Given the description of an element on the screen output the (x, y) to click on. 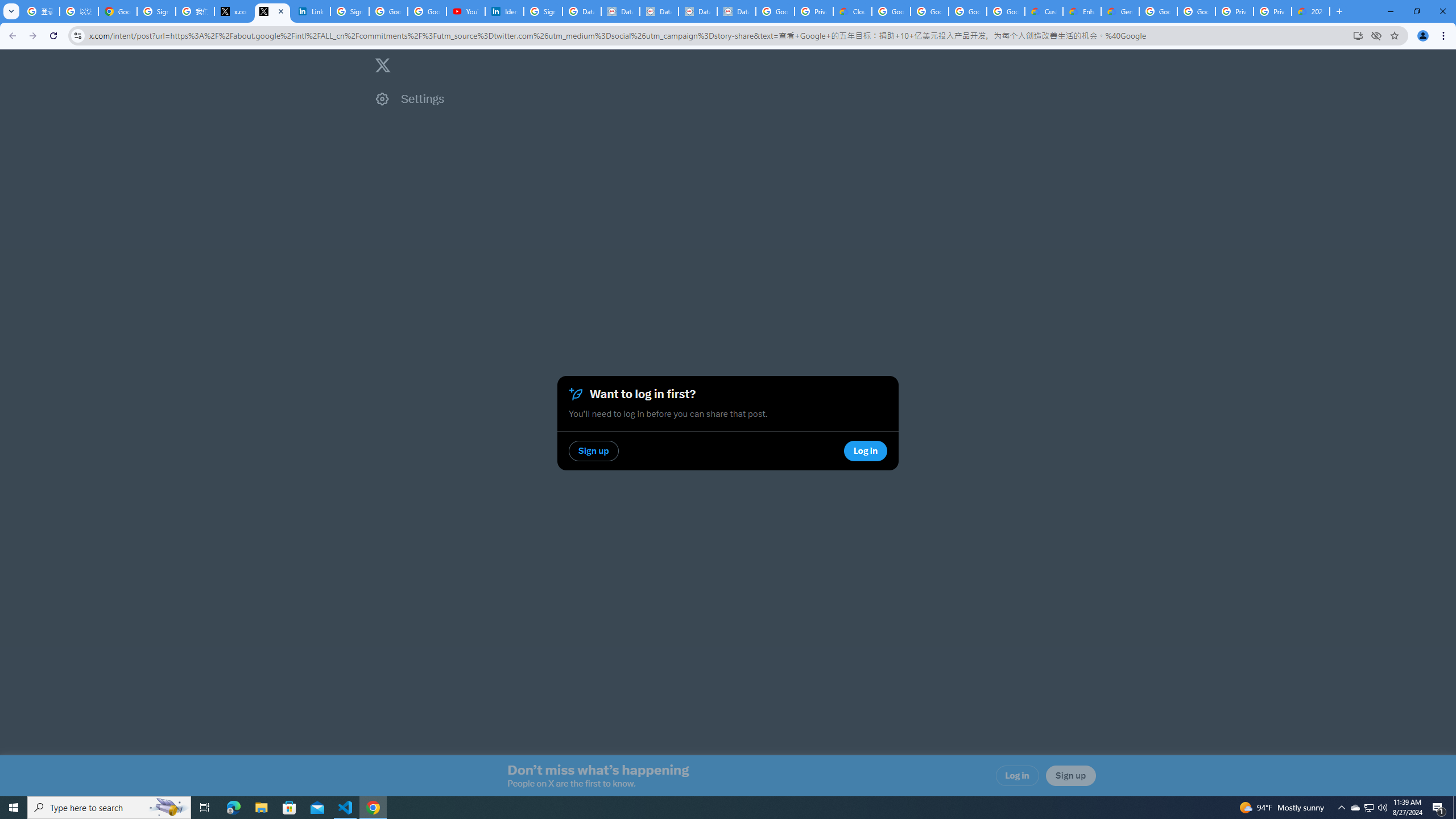
Google Cloud Platform (1196, 11)
Address and search bar (717, 35)
Identity verification via Persona | LinkedIn Help (504, 11)
Sign in - Google Accounts (542, 11)
Sign in - Google Accounts (349, 11)
Google Cloud Platform (1158, 11)
Third-party cookies blocked (1376, 35)
Data Privacy Framework (697, 11)
Gemini for Business and Developers | Google Cloud (1120, 11)
Data Privacy Framework (620, 11)
